Given the description of an element on the screen output the (x, y) to click on. 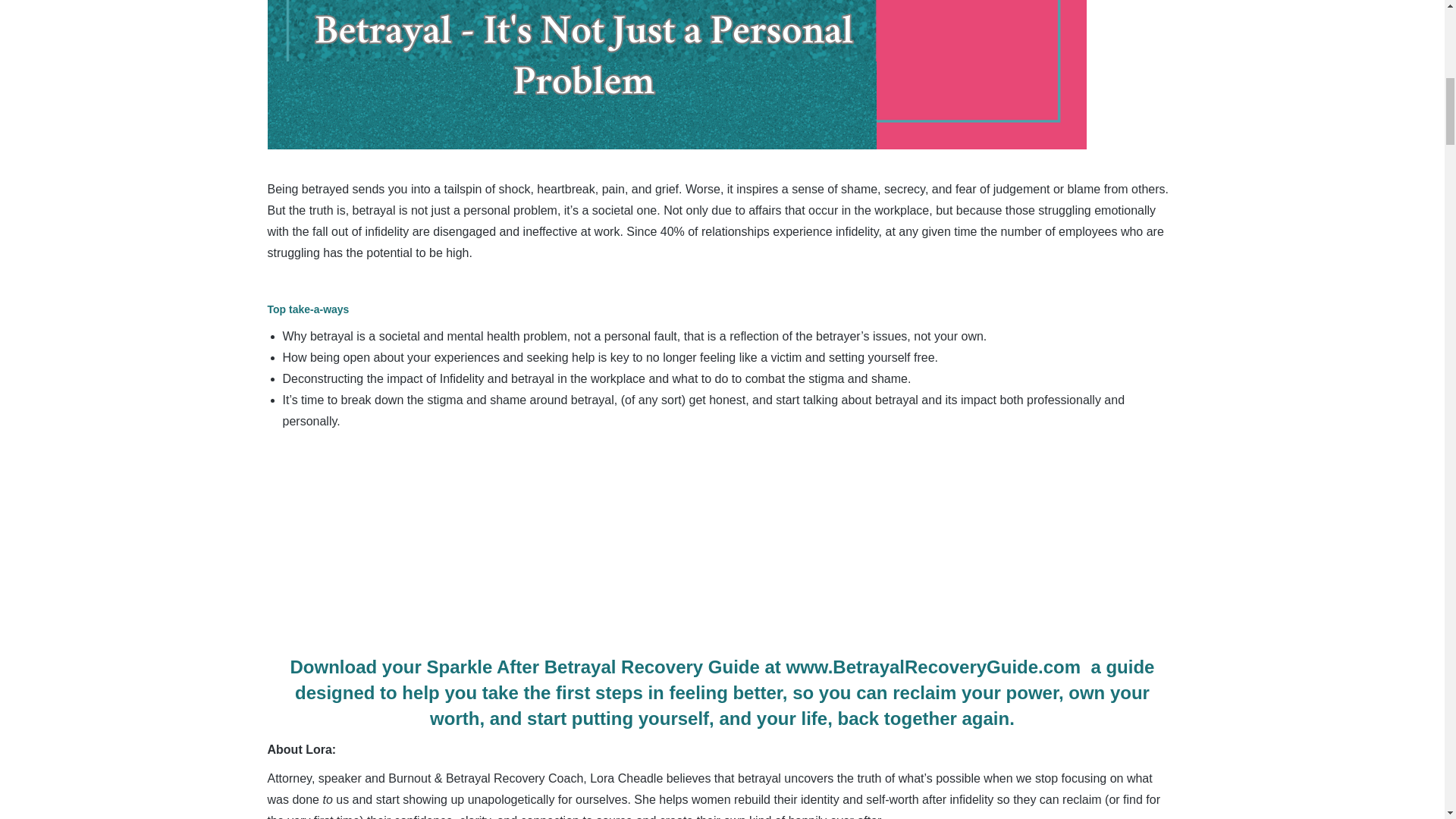
Workplace betrayal (676, 74)
www.BetrayalRecoveryGuide.com (933, 666)
